Given the description of an element on the screen output the (x, y) to click on. 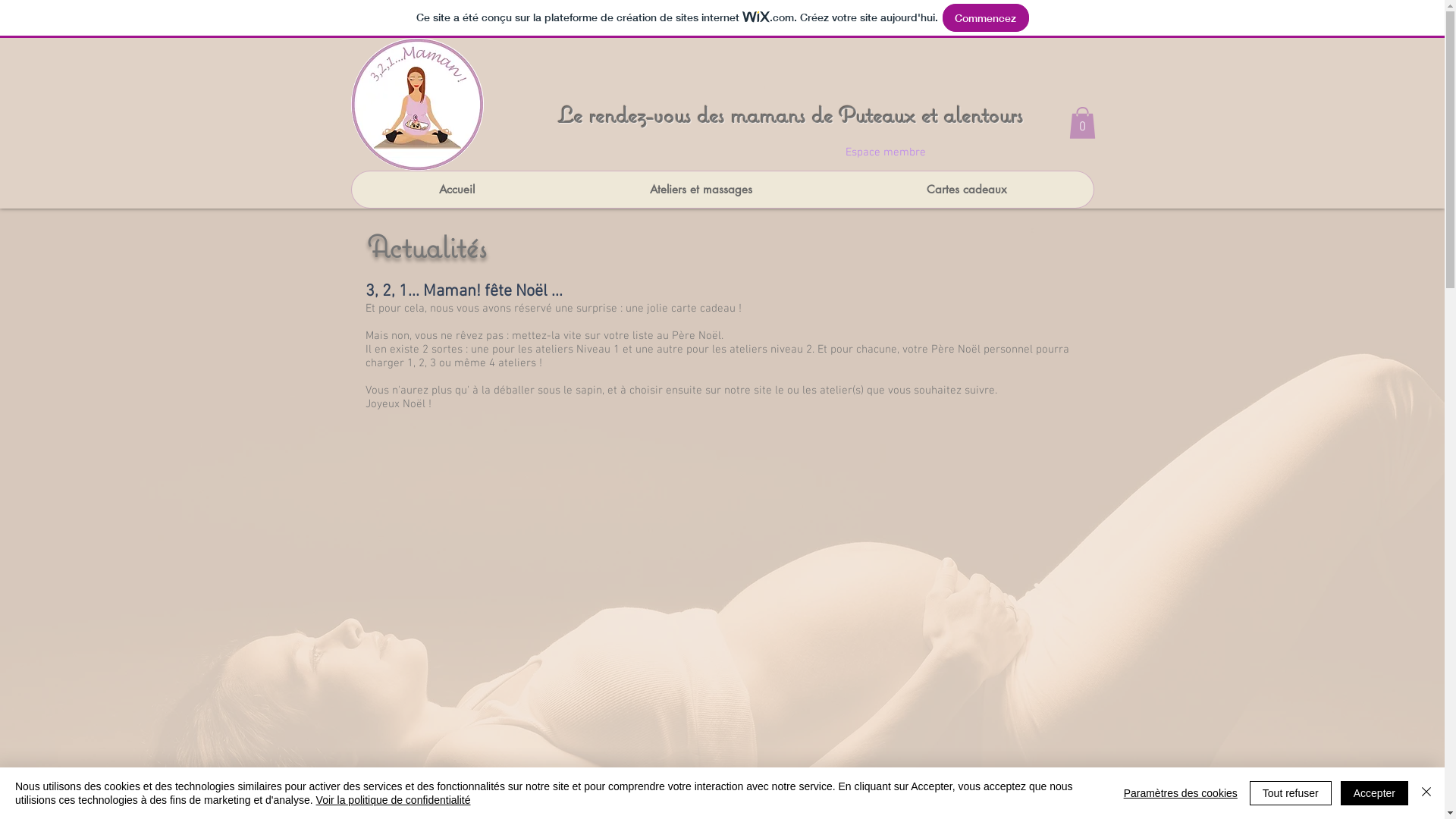
Accepter Element type: text (1374, 793)
Cartes cadeaux Element type: text (965, 189)
Accueil Element type: text (456, 189)
0 Element type: text (1082, 122)
Tout refuser Element type: text (1290, 793)
Espace membre Element type: text (884, 151)
Ateliers et massages Element type: text (699, 189)
